Given the description of an element on the screen output the (x, y) to click on. 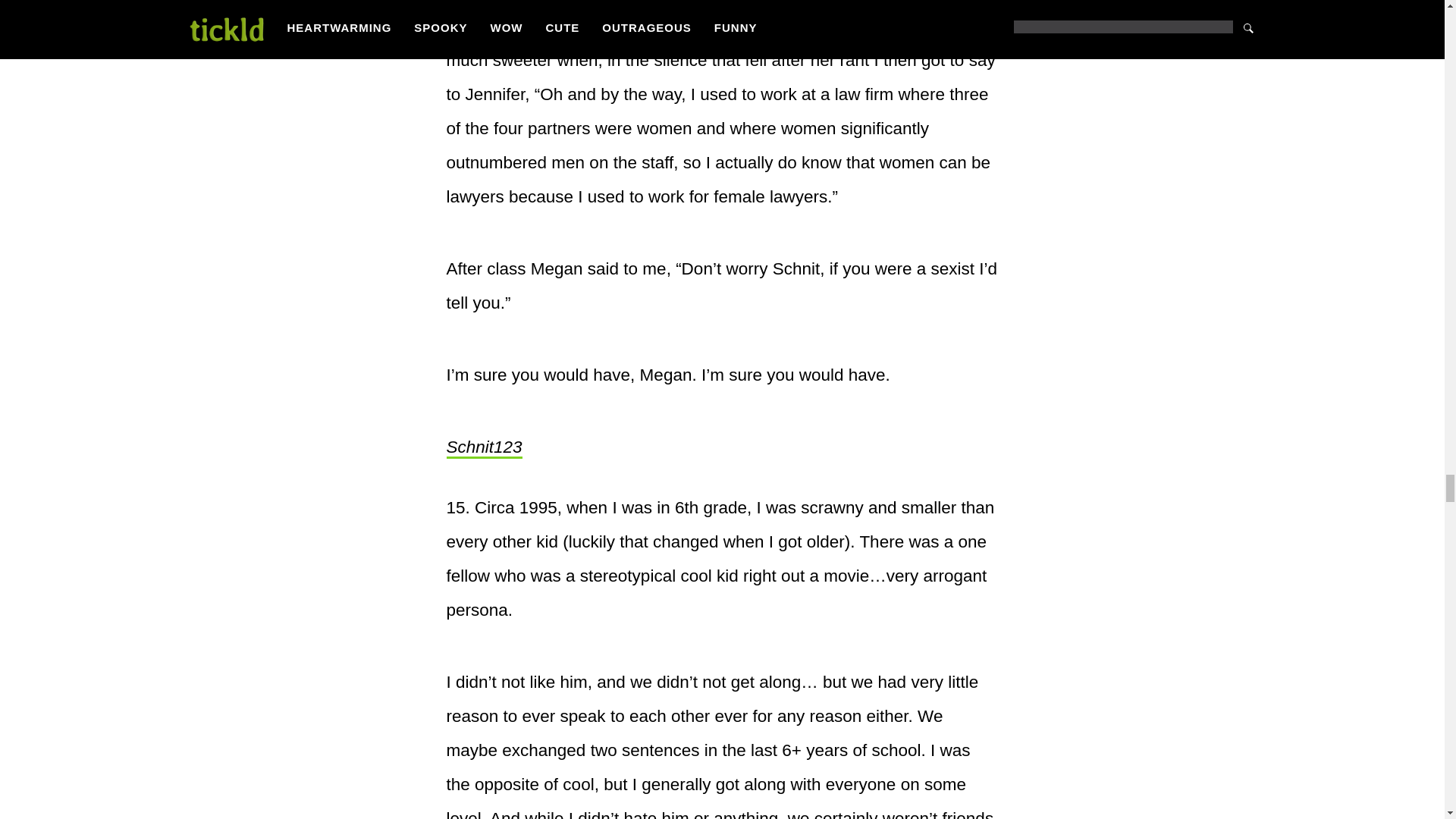
Schnit123 (483, 447)
